Given the description of an element on the screen output the (x, y) to click on. 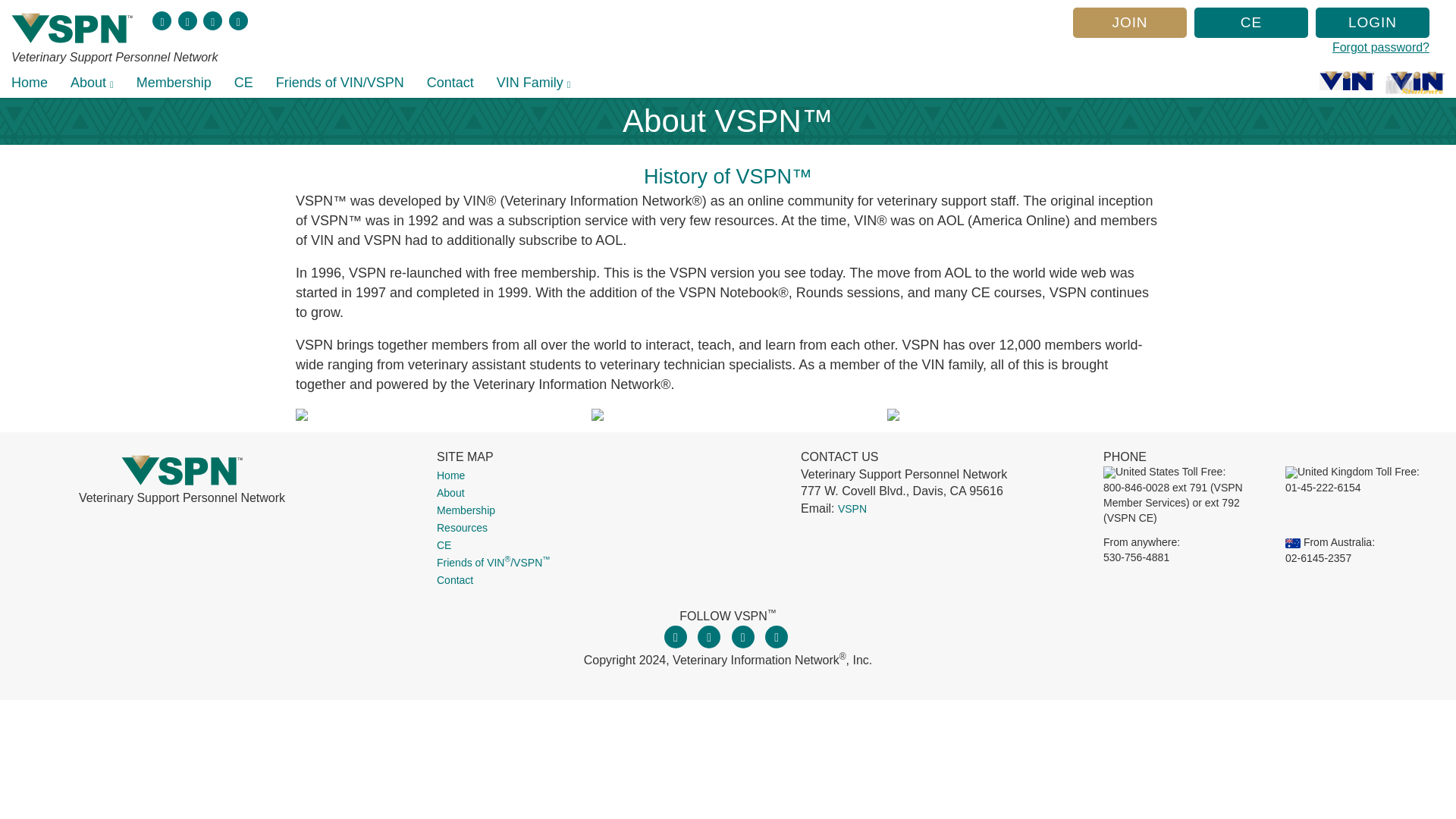
Facebook (161, 20)
CE (243, 82)
JOIN (1129, 22)
LinkedIn (237, 20)
CE (1250, 22)
Instagram (212, 20)
Contact (449, 82)
Forgot password? (1251, 46)
VIN Family (533, 82)
Home (29, 82)
LOGIN (1372, 22)
About (92, 82)
Membership (173, 82)
Twitter (186, 20)
